Given the description of an element on the screen output the (x, y) to click on. 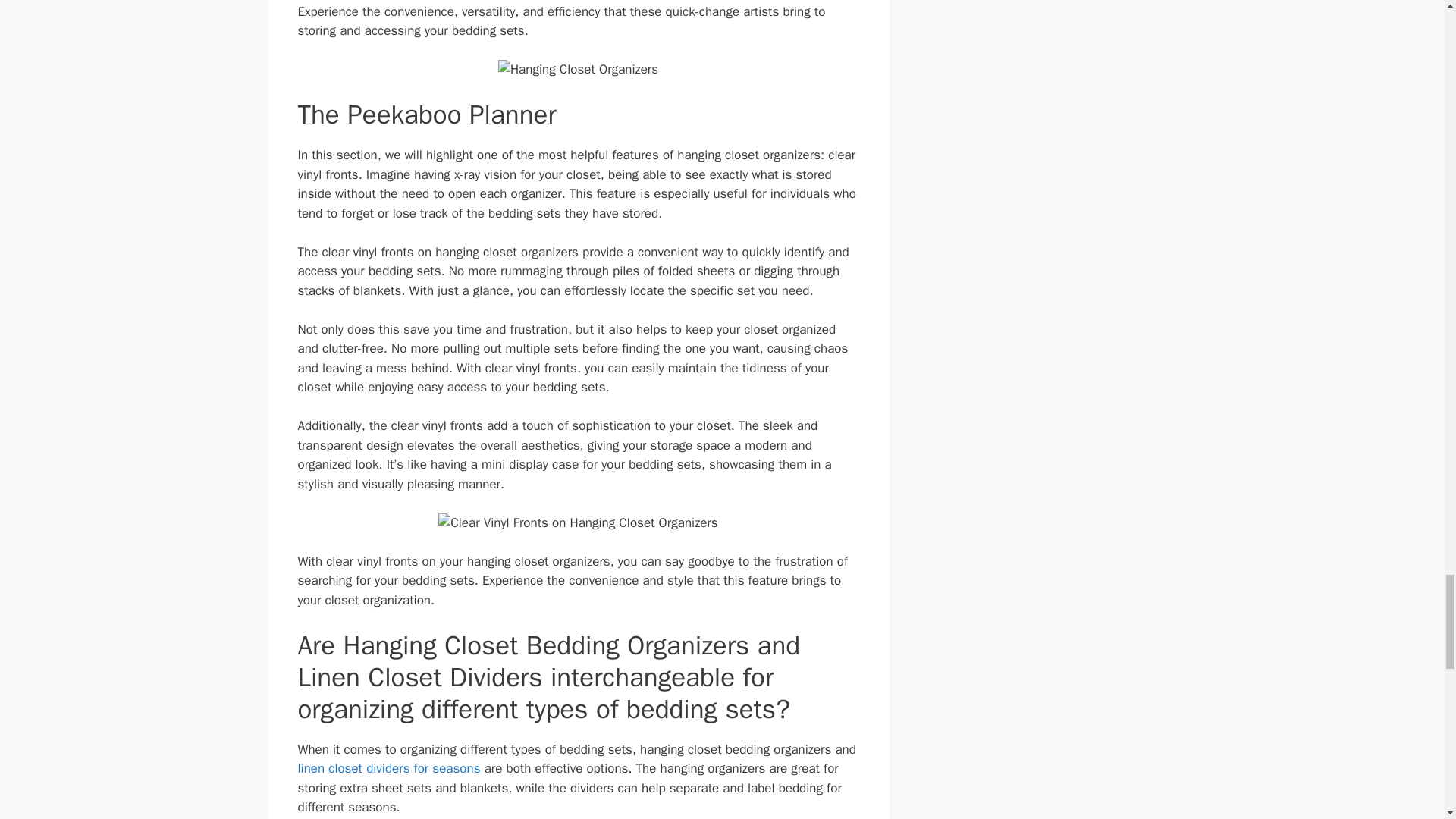
Hanging Closet Organizers (577, 69)
Clear Vinyl Fronts on Hanging Closet Organizers (577, 523)
linen closet dividers for seasons (388, 768)
